Given the description of an element on the screen output the (x, y) to click on. 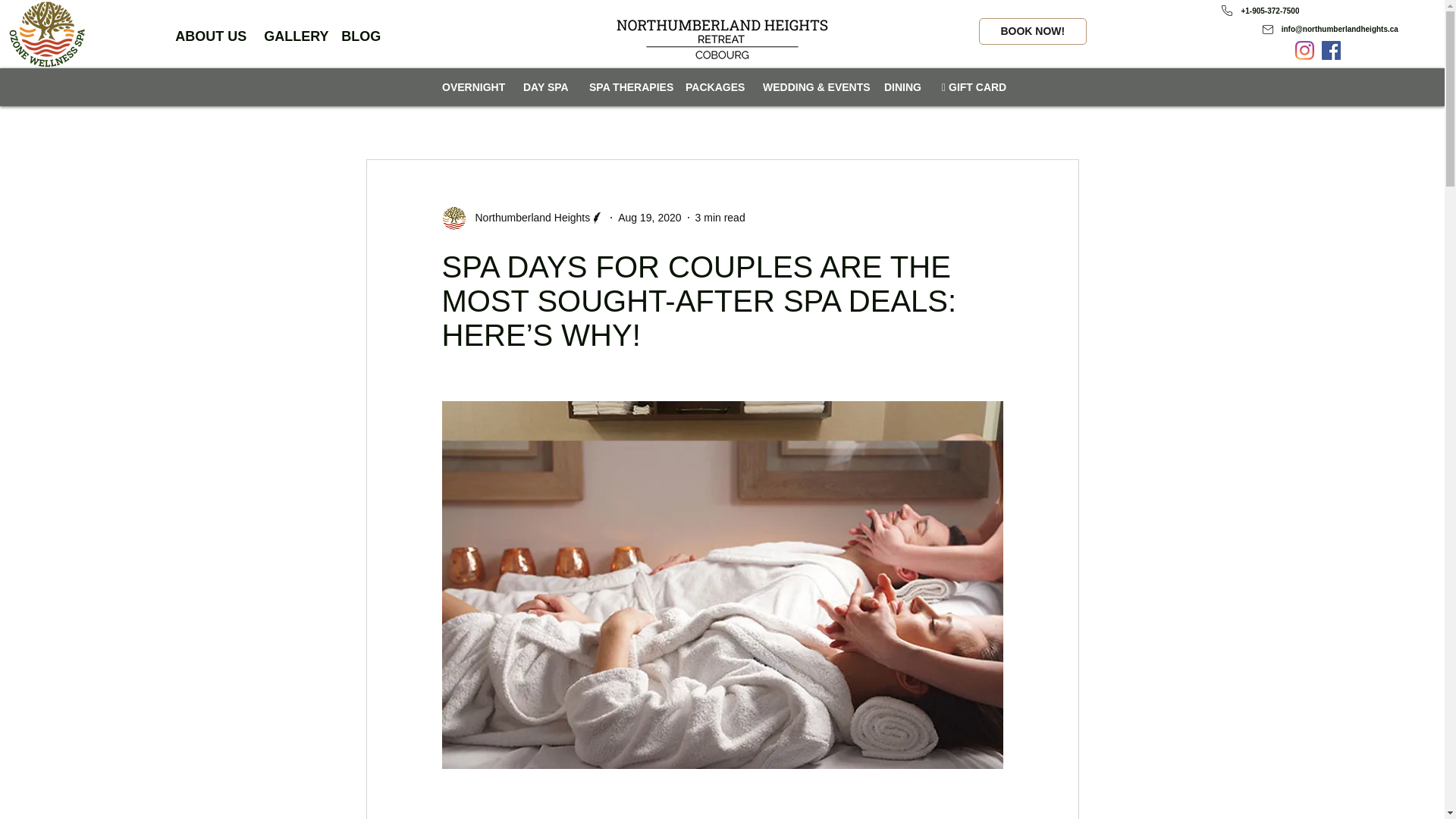
DAY SPA (543, 86)
PACKAGES (711, 86)
OVERNIGHT (470, 86)
3 min read (720, 216)
ABOUT US (207, 36)
BLOG (359, 36)
BOOK NOW! (1032, 31)
Northumberland Heights (527, 217)
Aug 19, 2020 (649, 216)
GALLERY (290, 36)
